Given the description of an element on the screen output the (x, y) to click on. 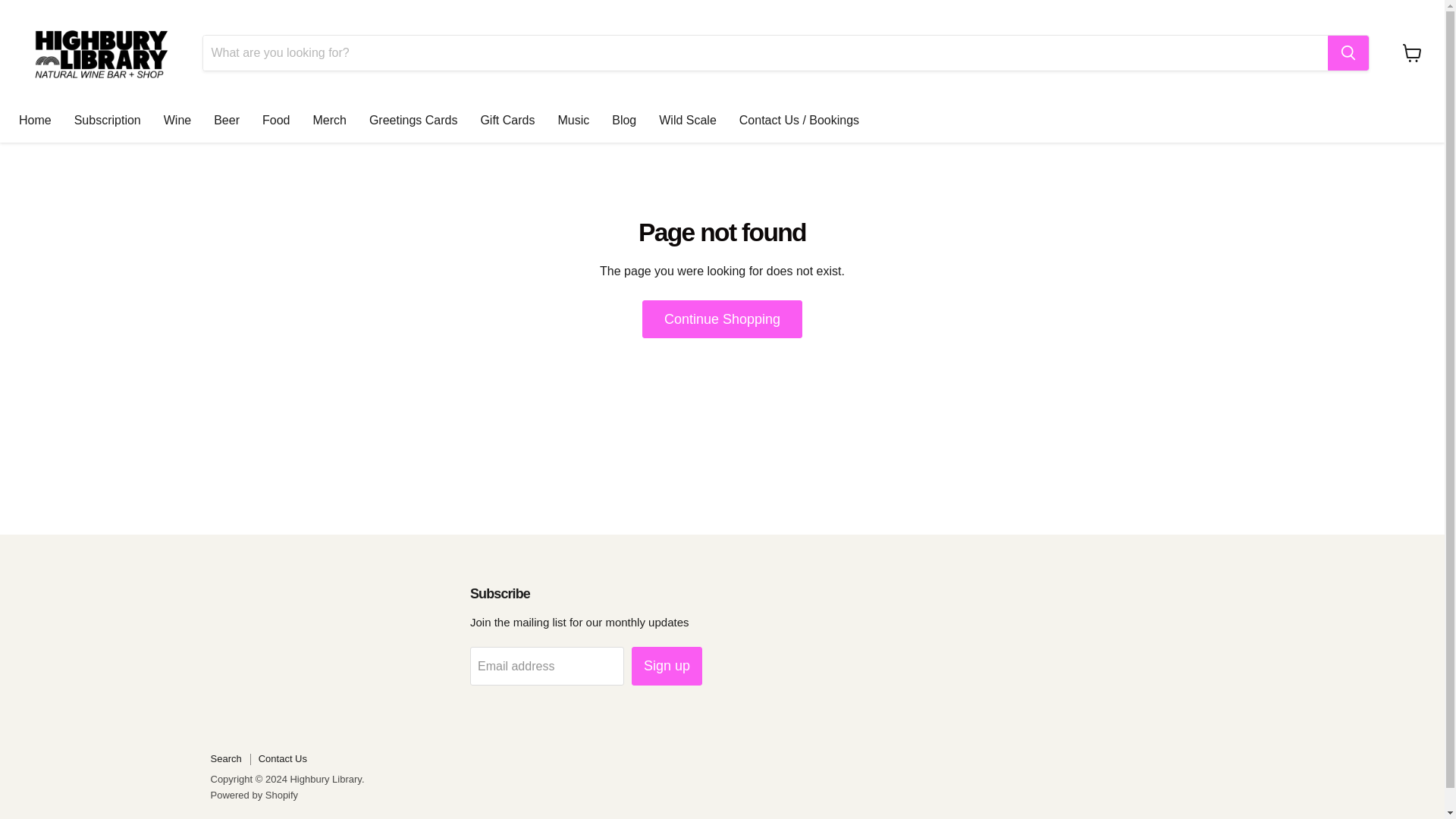
Powered by Shopify (254, 794)
Blog (623, 120)
Home (34, 120)
Contact Us (283, 758)
Search (226, 758)
Sign up (666, 666)
Greetings Cards (413, 120)
Subscription (107, 120)
Music (572, 120)
Wild Scale (687, 120)
